Given the description of an element on the screen output the (x, y) to click on. 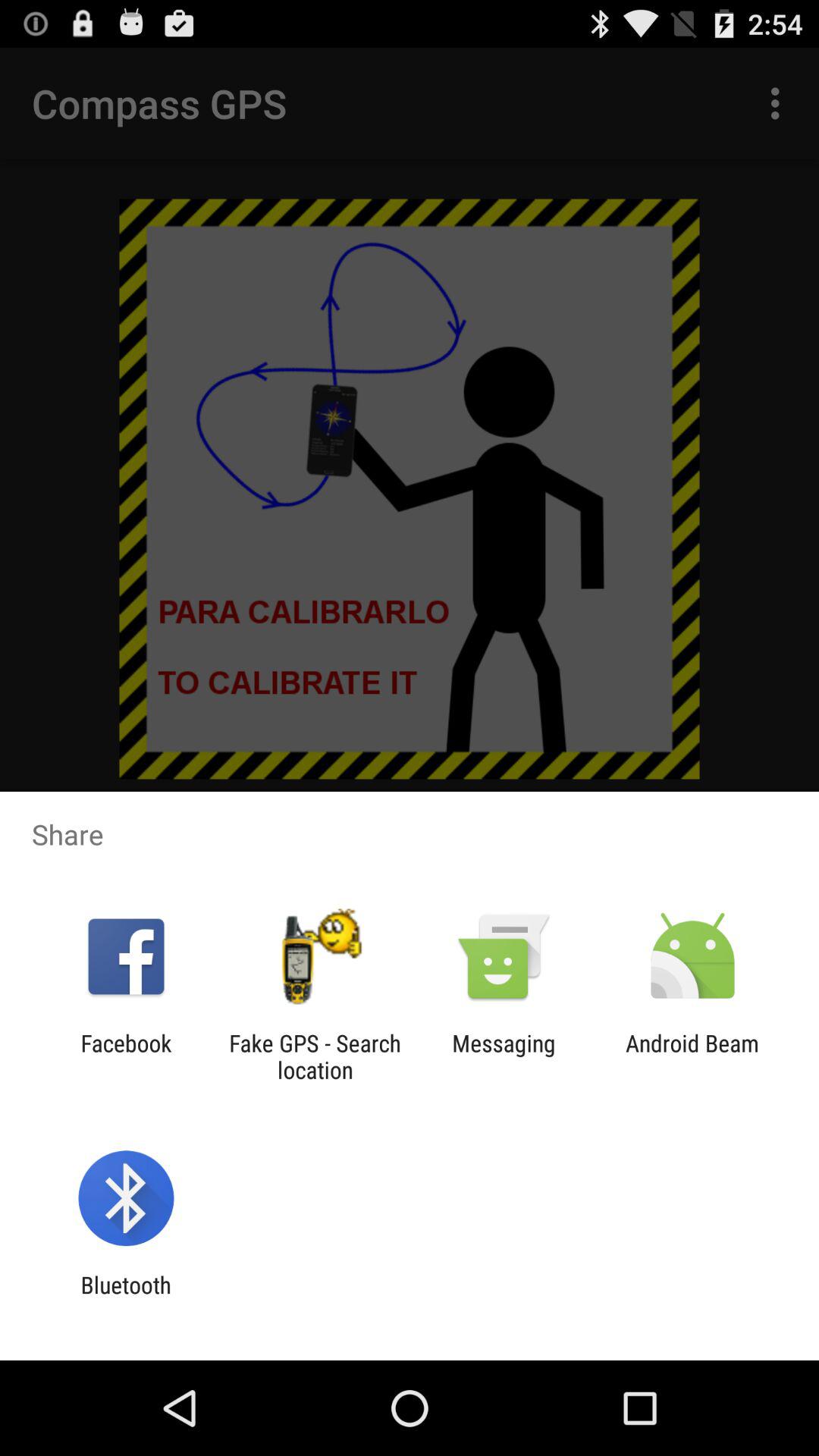
jump to facebook app (125, 1056)
